Given the description of an element on the screen output the (x, y) to click on. 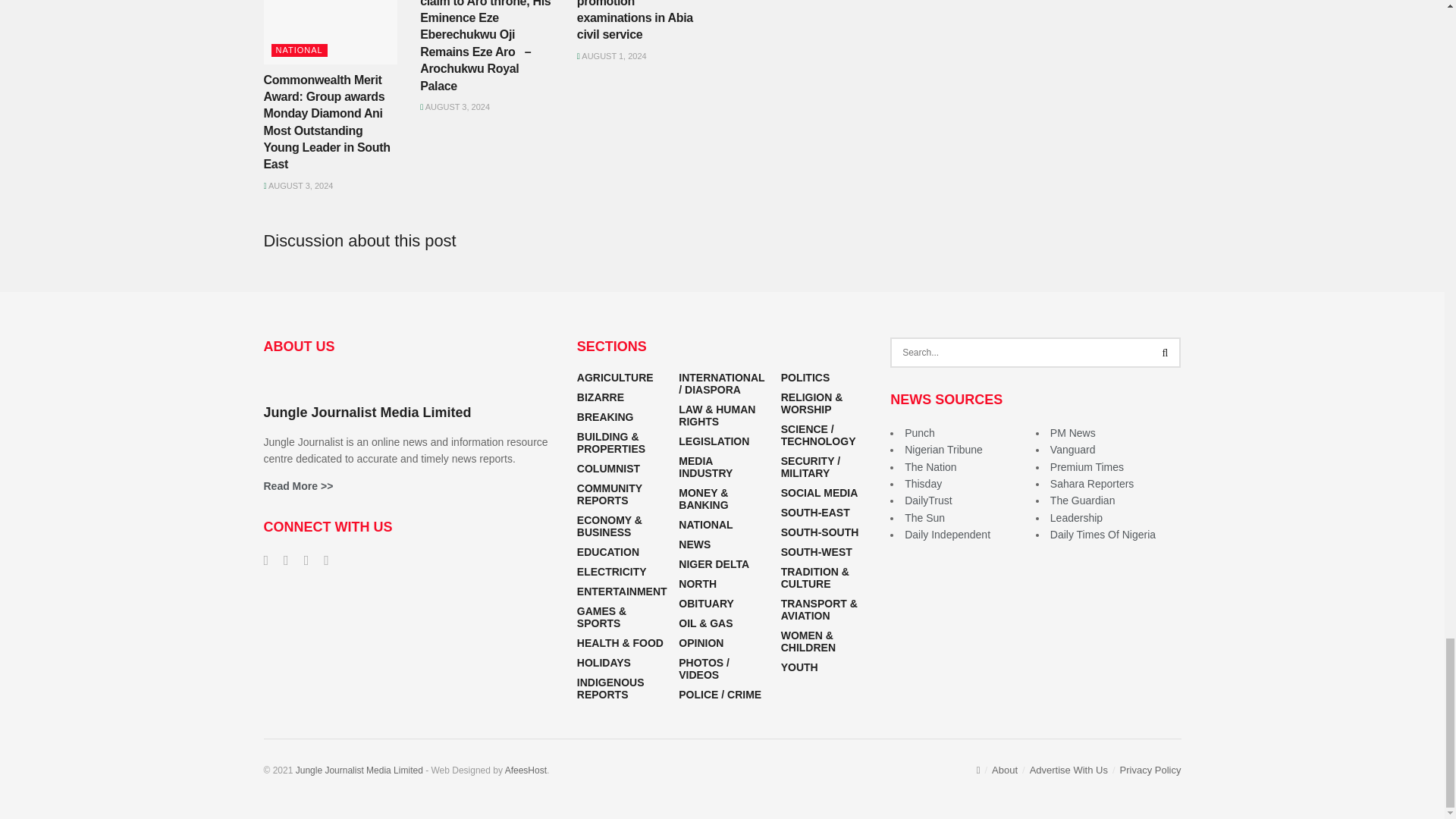
About Jungle Journalist Media Limited (298, 485)
Jungle Journalist Media Limited (359, 769)
Web Hosting (526, 769)
